Given the description of an element on the screen output the (x, y) to click on. 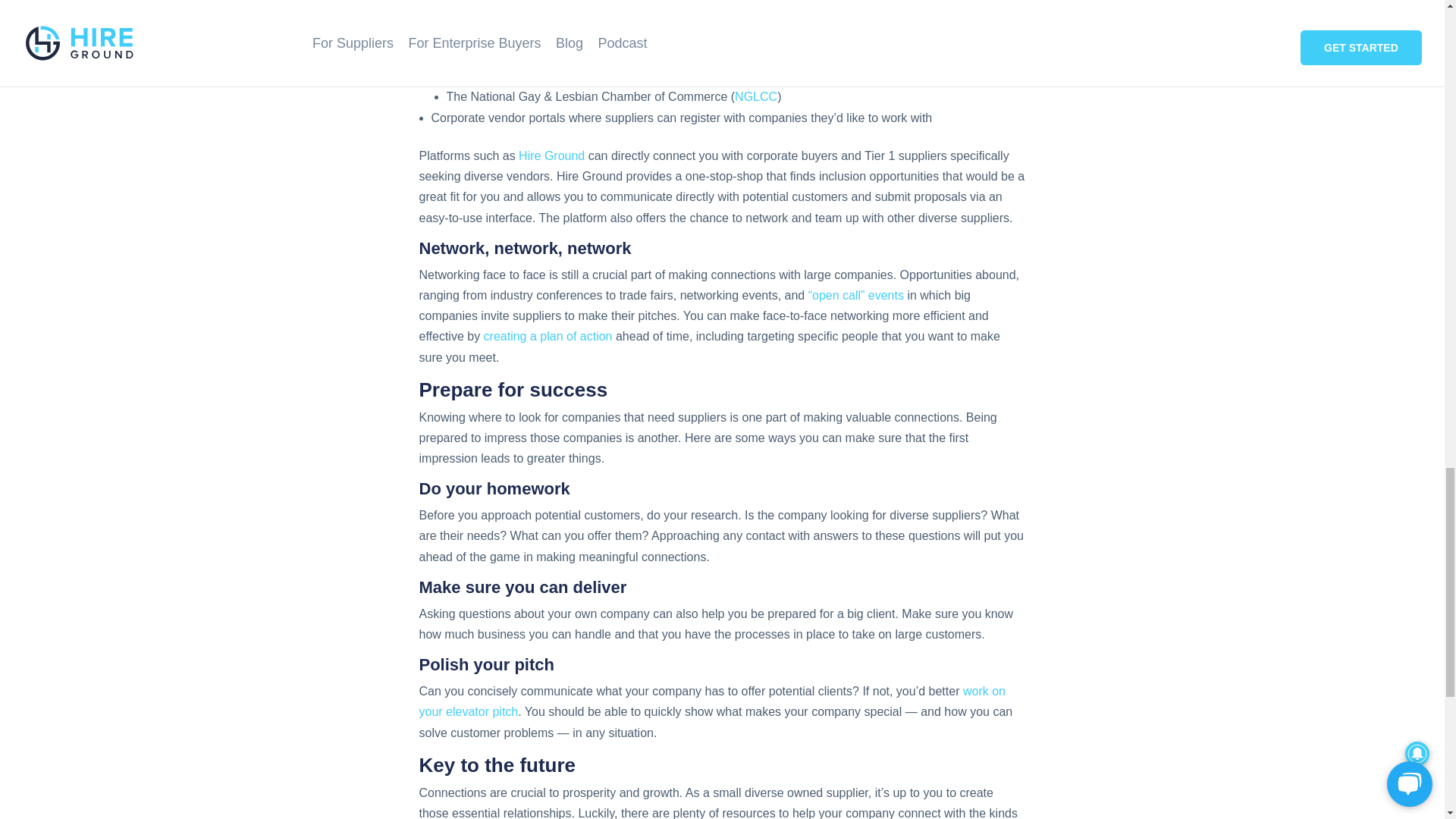
creating a plan of action (547, 336)
Hire Ground (551, 155)
NGLCC (756, 96)
WBENC (753, 56)
work on your elevator pitch (711, 701)
NMSDC (756, 76)
LinkedIn (453, 15)
